Given the description of an element on the screen output the (x, y) to click on. 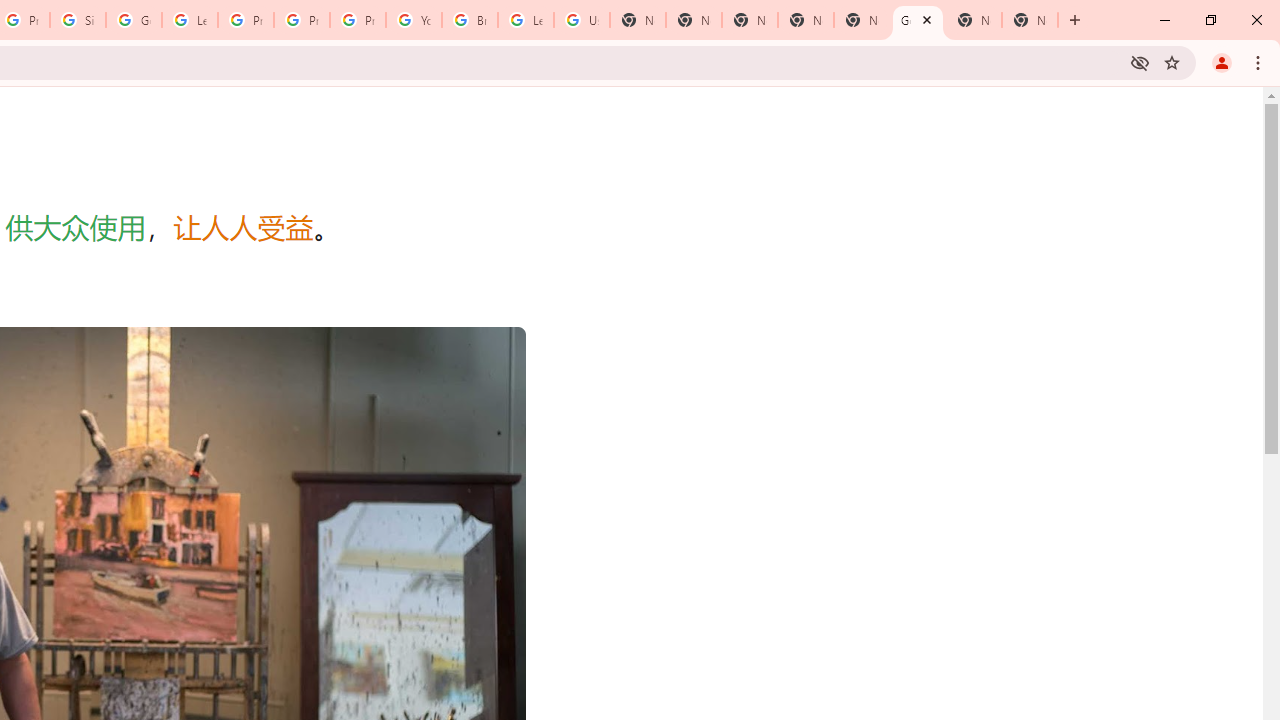
Third-party cookies blocked (1139, 62)
Minimize (1165, 20)
New Tab (1075, 20)
Bookmark this tab (1171, 62)
YouTube (413, 20)
Restore (1210, 20)
You (1221, 62)
New Tab (1030, 20)
New Tab (749, 20)
Browse Chrome as a guest - Computer - Google Chrome Help (469, 20)
